Given the description of an element on the screen output the (x, y) to click on. 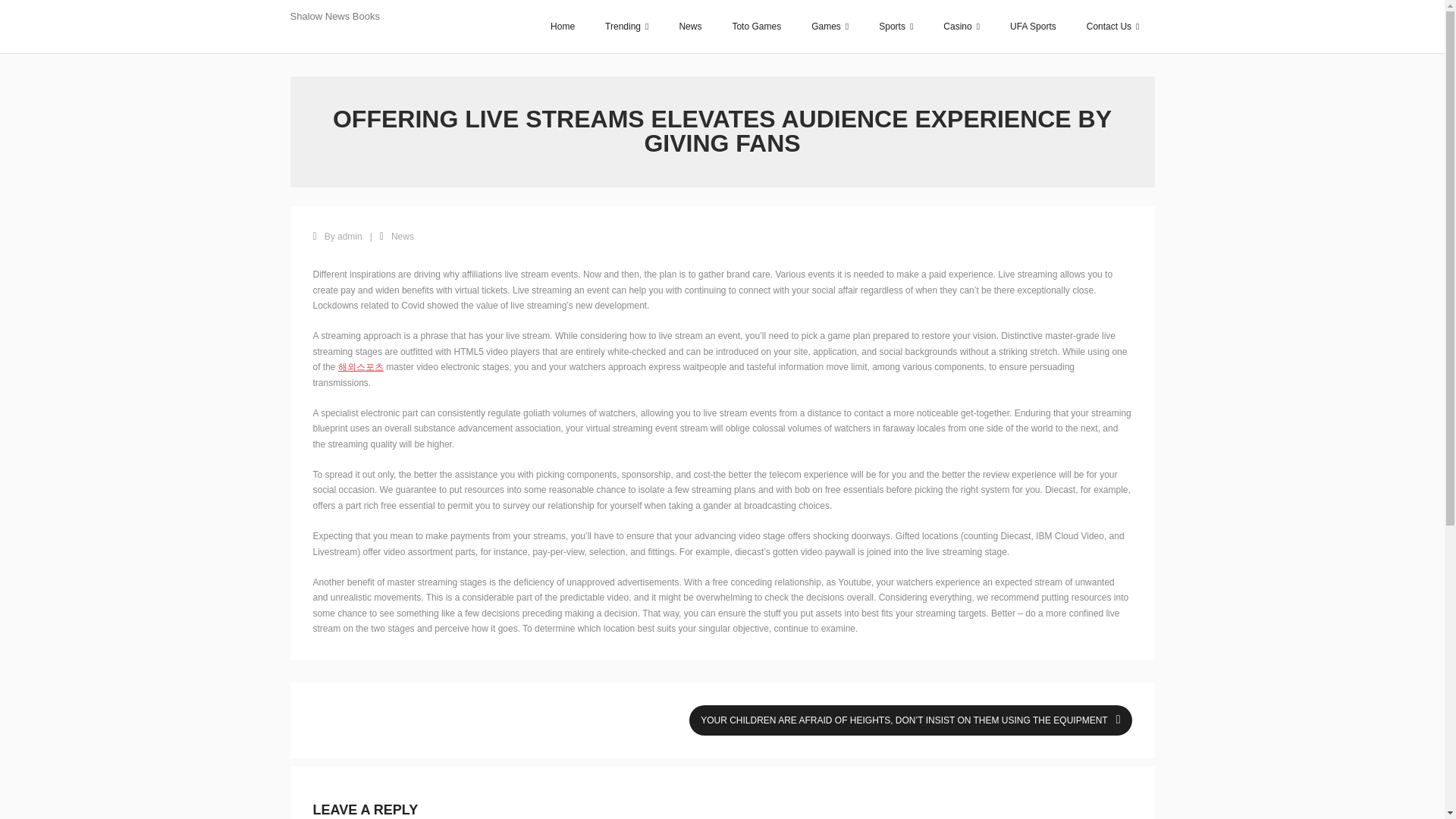
News (689, 26)
View all posts by admin (349, 235)
Sports (895, 26)
Shalow News Books (334, 16)
Toto Games (756, 26)
Home (562, 26)
Shalow News Books (334, 14)
Trending (626, 26)
Contact Us (1112, 26)
UFA Sports (1032, 26)
Casino (961, 26)
Games (829, 26)
